Given the description of an element on the screen output the (x, y) to click on. 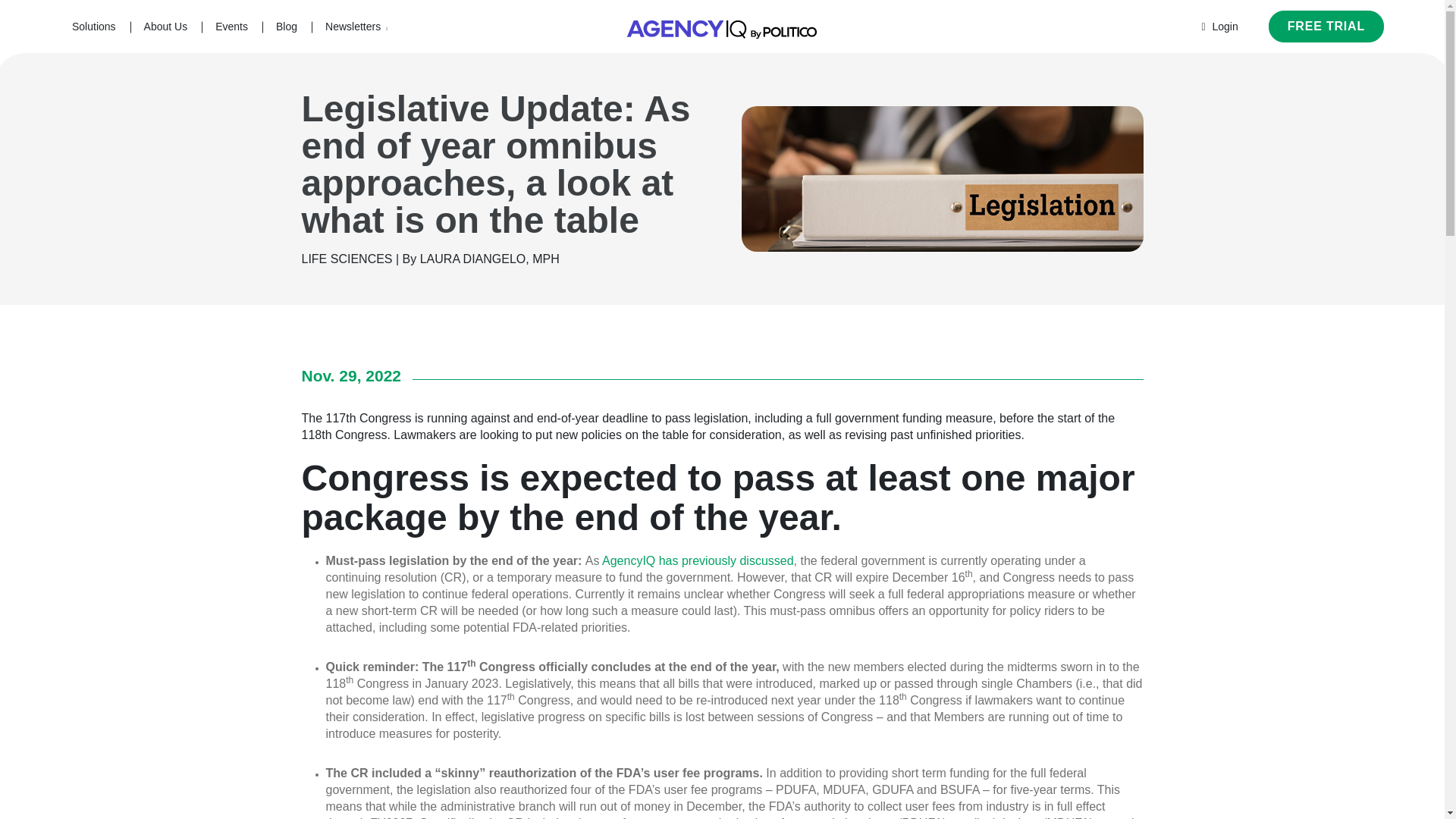
AgencyIQ has previously discussed (697, 560)
Blog (286, 26)
FREE TRIAL (1326, 26)
Events (231, 26)
About Us (165, 26)
Login (1219, 26)
Solutions (93, 26)
Newsletters (355, 26)
